Given the description of an element on the screen output the (x, y) to click on. 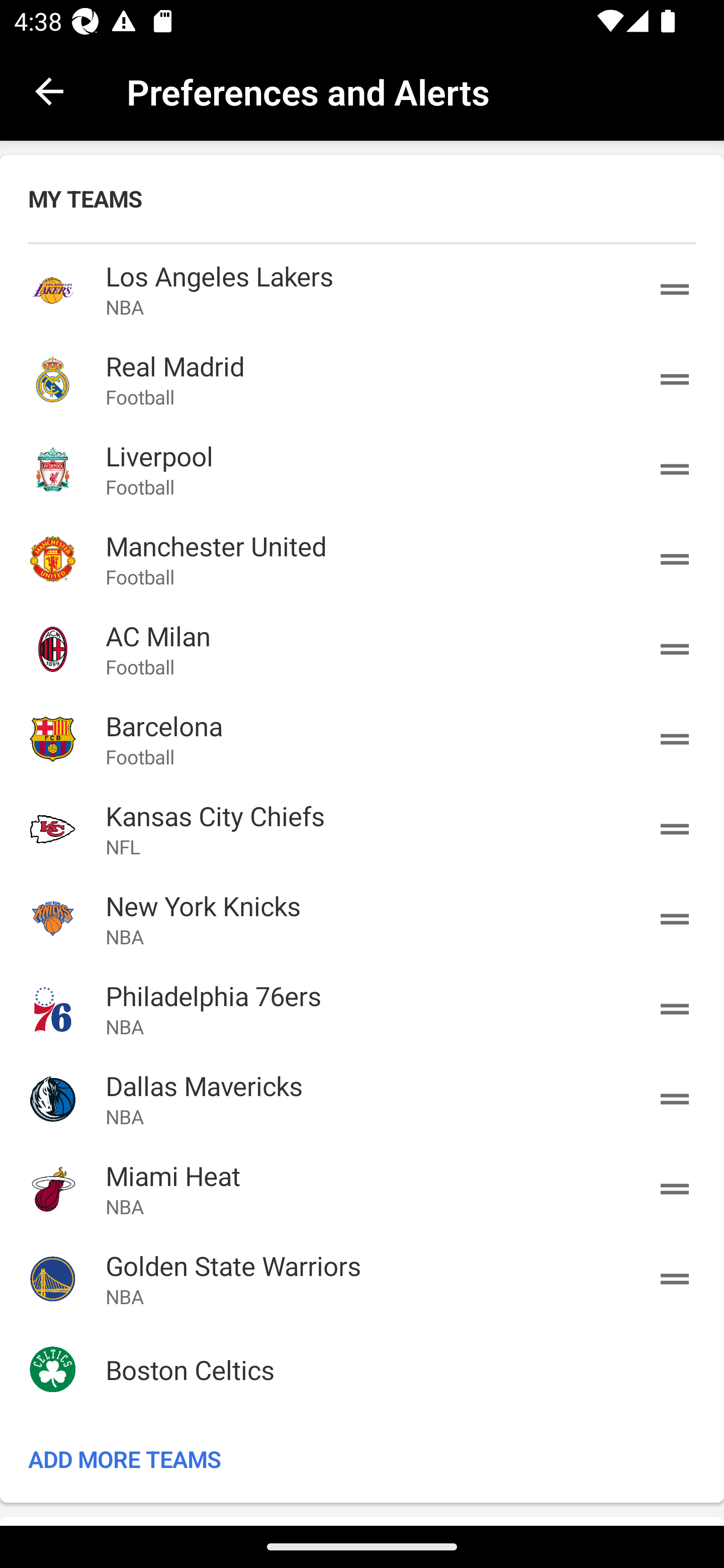
back.button (49, 90)
Liverpool Liverpool Liverpool Football Football (362, 469)
AC Milan AC Milan AC Milan Football Football (362, 648)
Barcelona Barcelona Barcelona Football Football (362, 739)
Miami Heat Miami Heat Miami Heat NBA NBA (362, 1188)
Boston Celtics Boston Celtics Boston Celtics (362, 1369)
ADD MORE TEAMS (362, 1458)
